Given the description of an element on the screen output the (x, y) to click on. 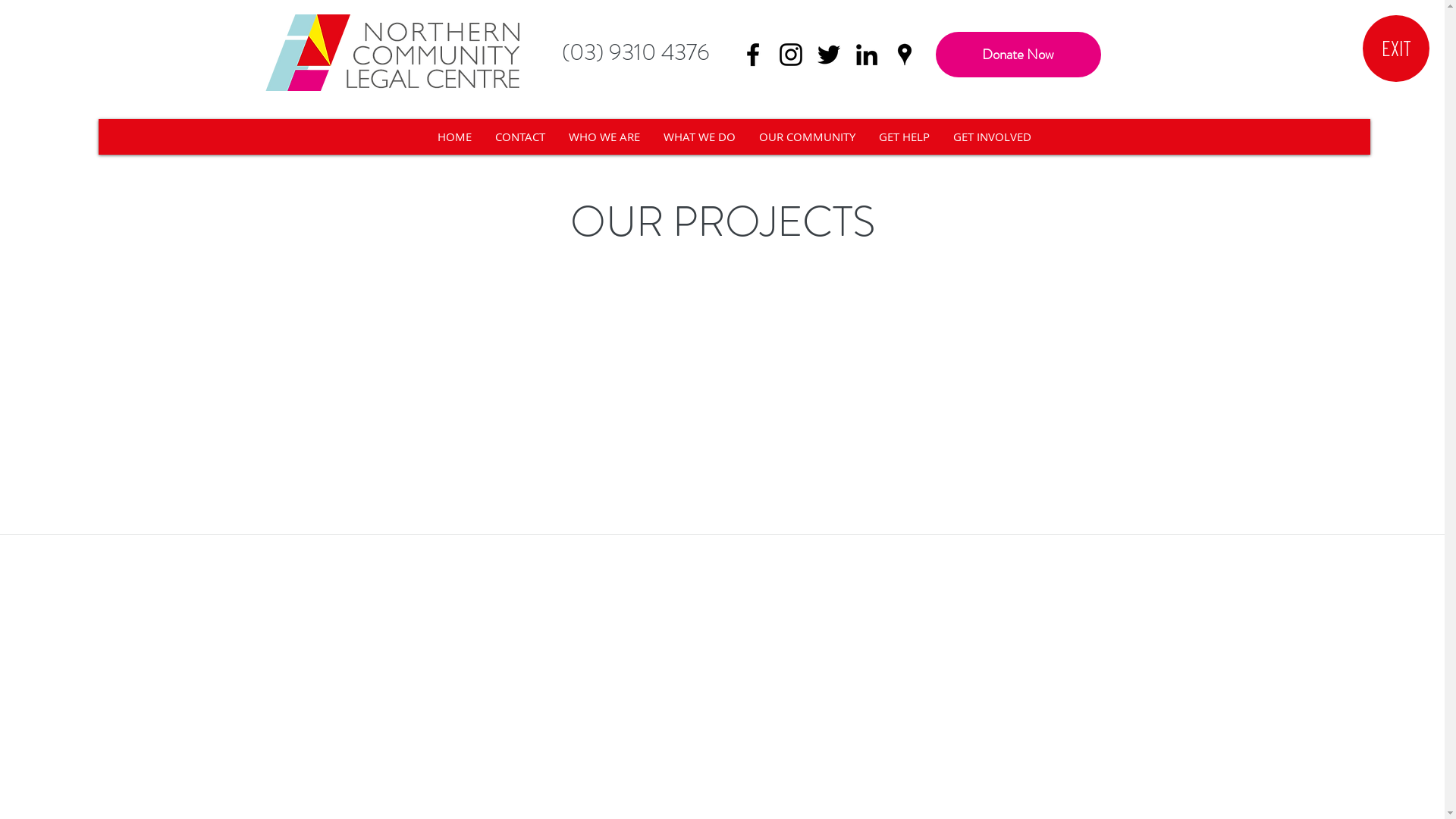
HOME Element type: text (454, 136)
EXIT Element type: text (1395, 48)
Donate Now Element type: text (1018, 54)
CONTACT Element type: text (519, 136)
